Given the description of an element on the screen output the (x, y) to click on. 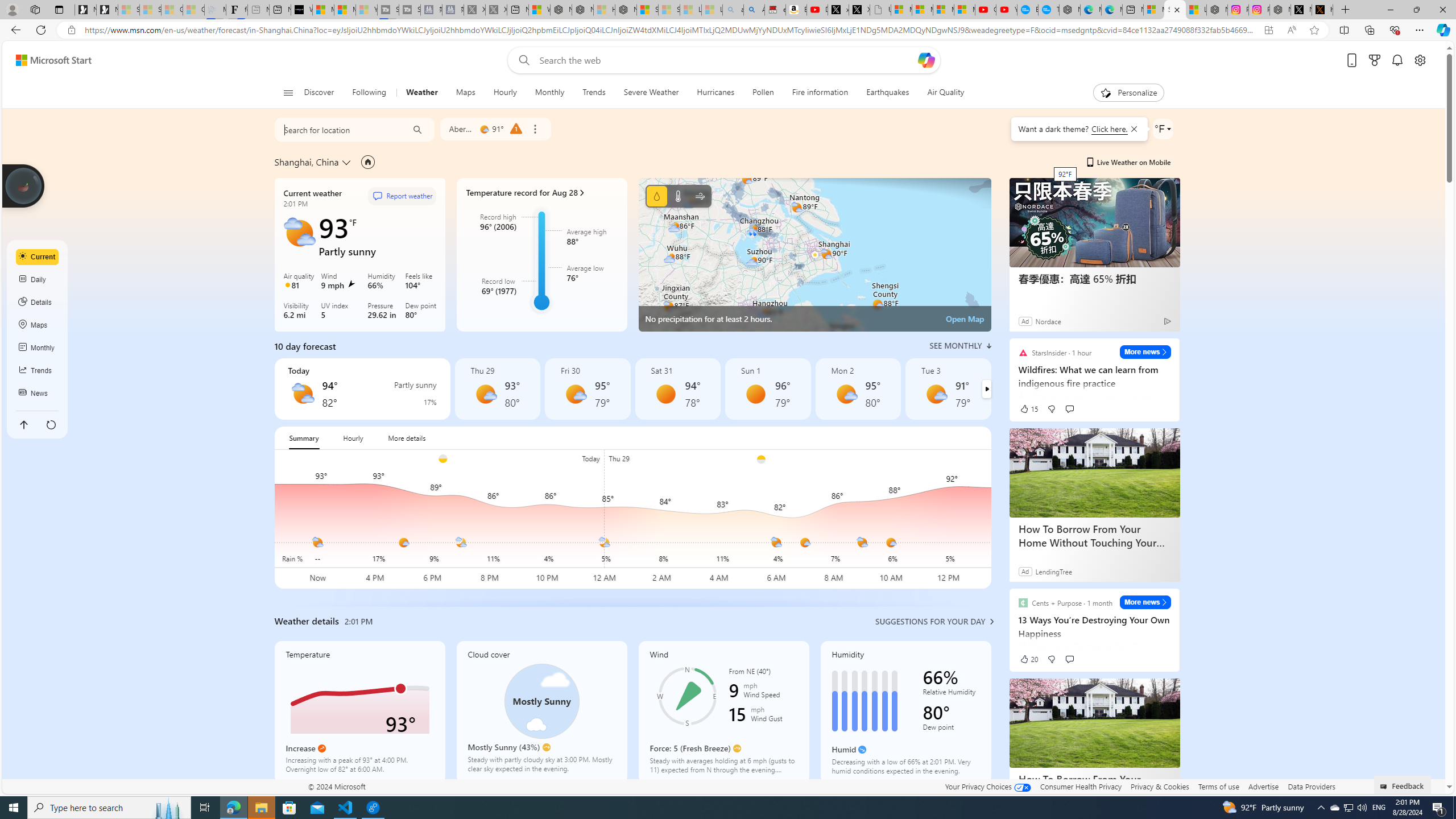
Weather settings (1162, 128)
Earthquakes (888, 92)
Monthly (549, 92)
Wind 9 mph (342, 282)
Maps (465, 92)
Remove location (534, 128)
Hurricanes (715, 92)
